Given the description of an element on the screen output the (x, y) to click on. 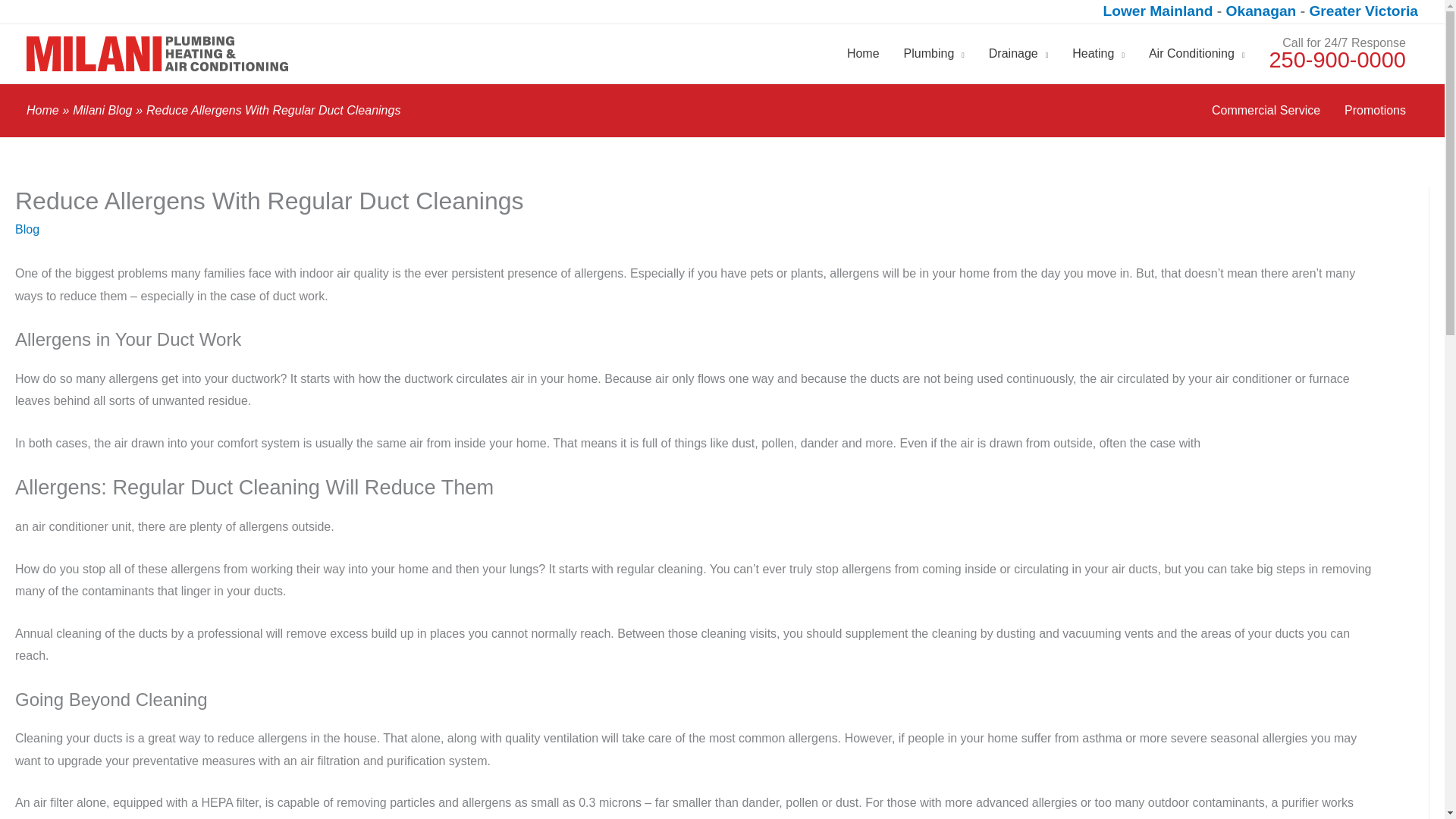
Heating (1098, 53)
Lower Mainland (1158, 10)
Greater Victoria (1363, 10)
250-900-0000 (1337, 59)
Home (862, 53)
Okanagan (1262, 10)
Drainage (1017, 53)
Plumbing (933, 53)
Air Conditioning (1196, 53)
